Given the description of an element on the screen output the (x, y) to click on. 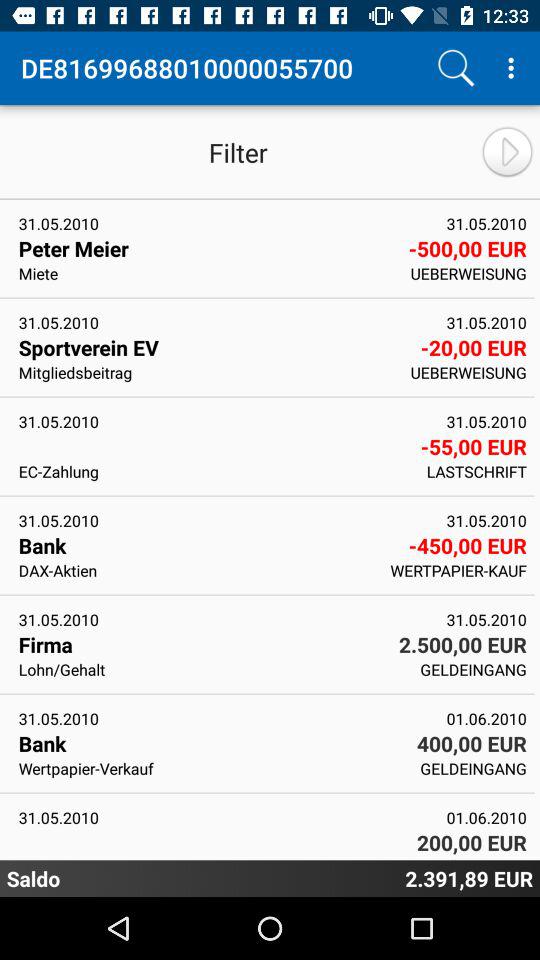
launch icon next to 2 500 00 icon (201, 644)
